Given the description of an element on the screen output the (x, y) to click on. 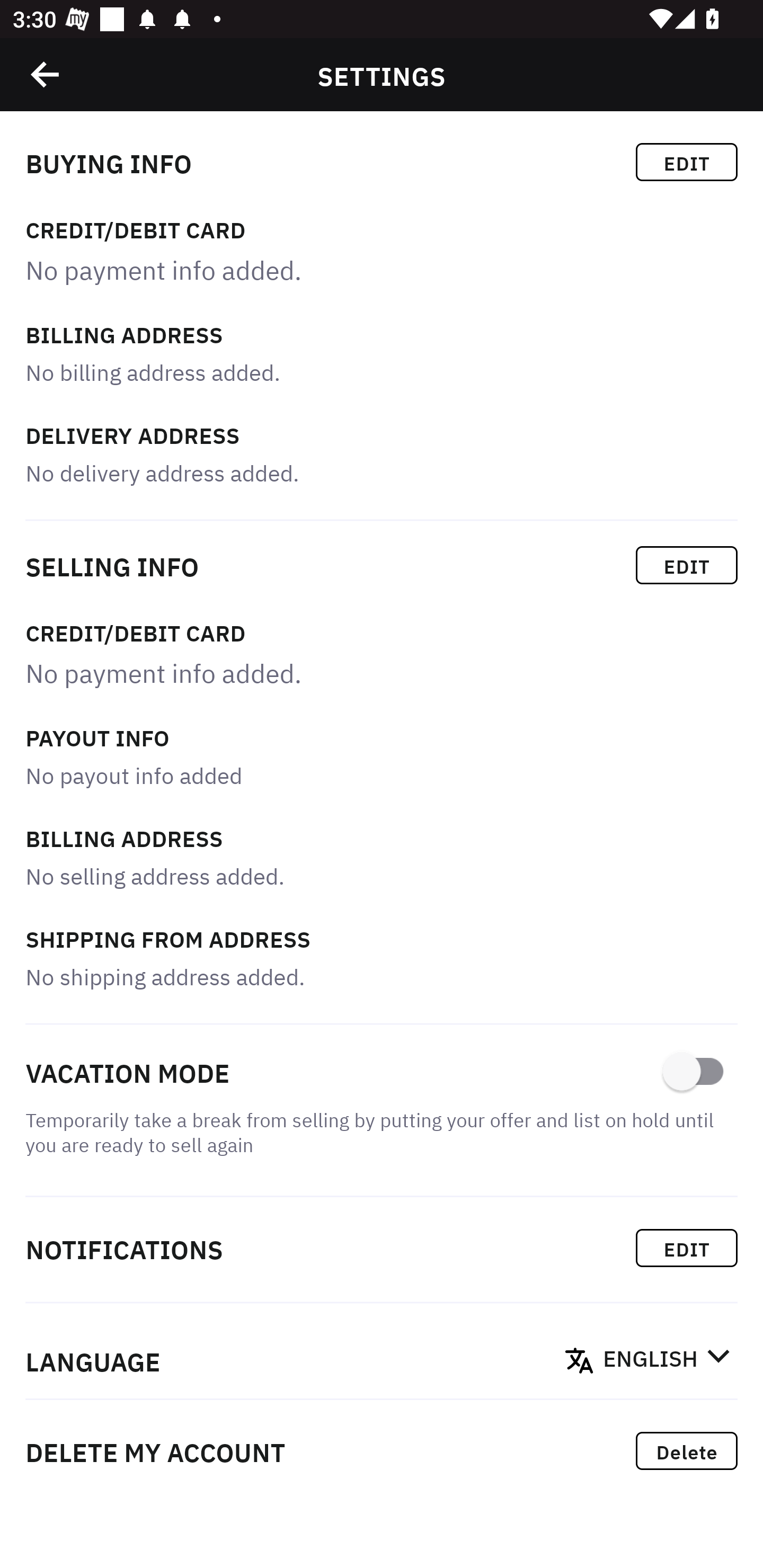
 (46, 74)
EDIT (686, 161)
EDIT (686, 564)
EDIT (686, 1247)
ENGLISH  (666, 1359)
Delete (686, 1450)
